Given the description of an element on the screen output the (x, y) to click on. 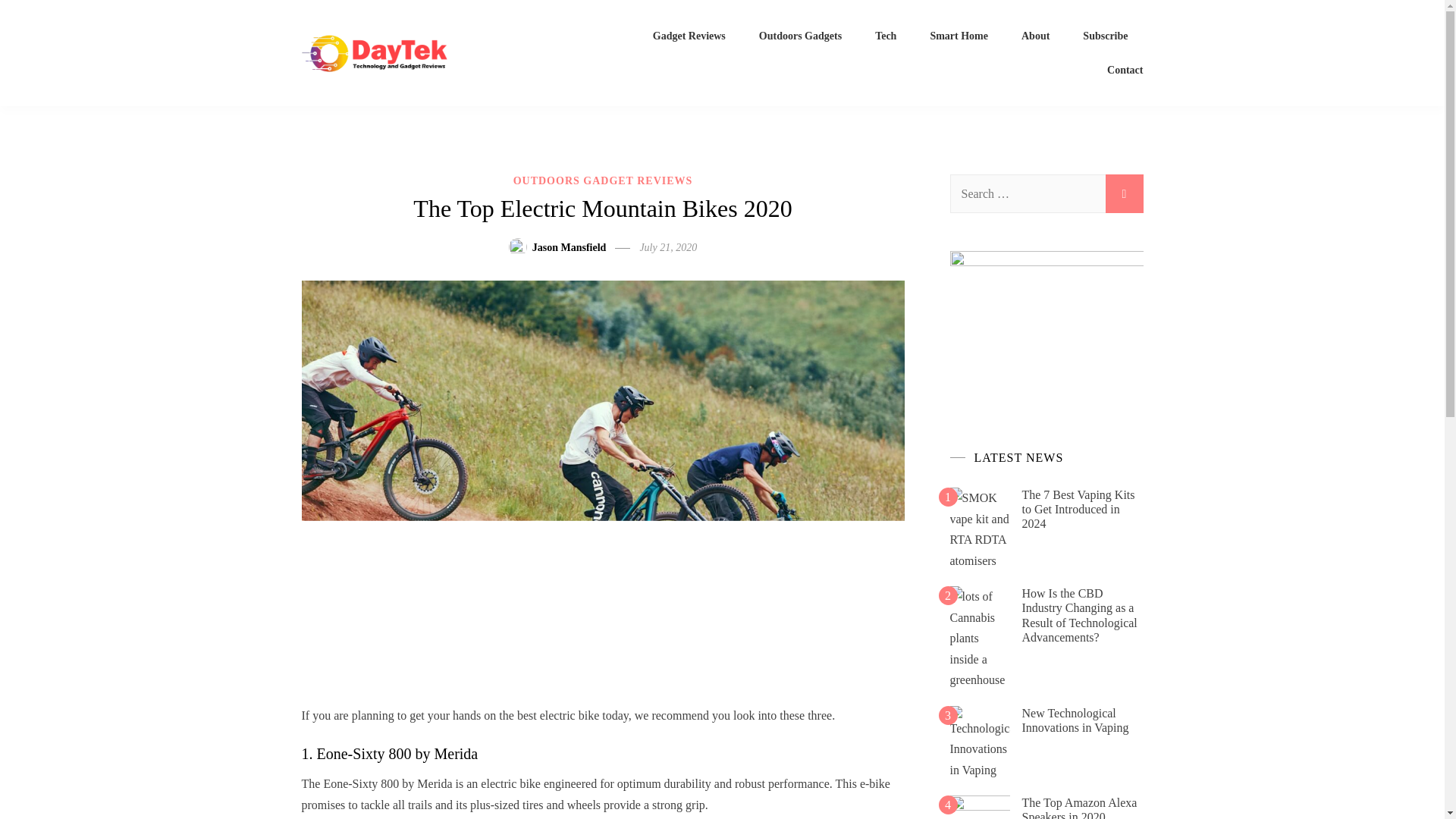
The 7 Best Vaping Kits to Get Introduced in 2024 (1078, 508)
Search (1123, 193)
Search (1123, 193)
Tech (885, 35)
Search (1123, 193)
Outdoors Gadgets (799, 35)
Daytek (465, 51)
July 21, 2020 (668, 247)
Subscribe (1104, 35)
The Top Amazon Alexa Speakers in 2020 (1079, 807)
Smart Home (959, 35)
About (1035, 35)
New Technological Innovations in Vaping (1075, 719)
OUTDOORS GADGET REVIEWS (603, 180)
